Given the description of an element on the screen output the (x, y) to click on. 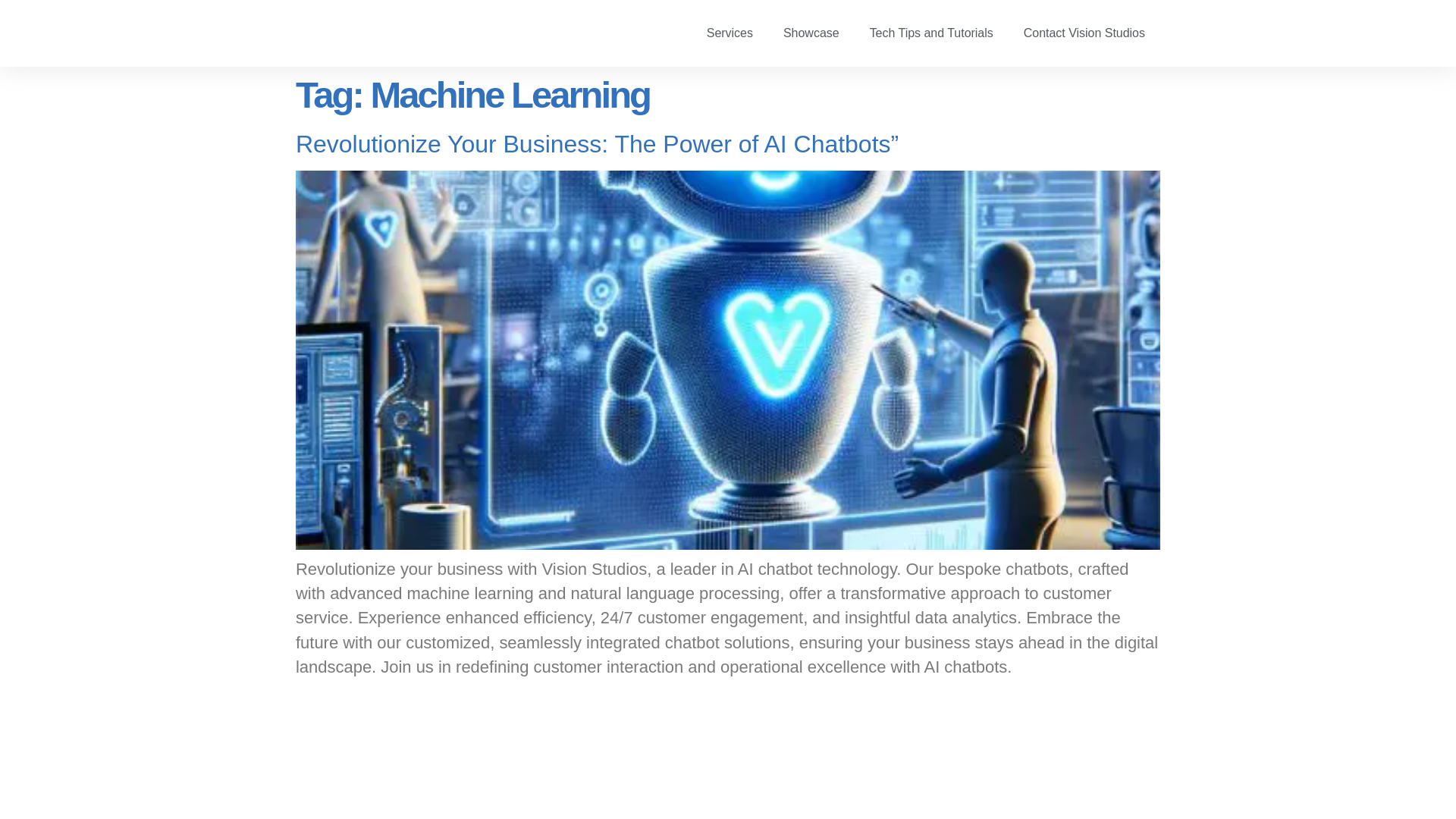
Contact Vision Studios (1084, 33)
Showcase (811, 33)
Tech Tips and Tutorials (931, 33)
Services (729, 33)
